Given the description of an element on the screen output the (x, y) to click on. 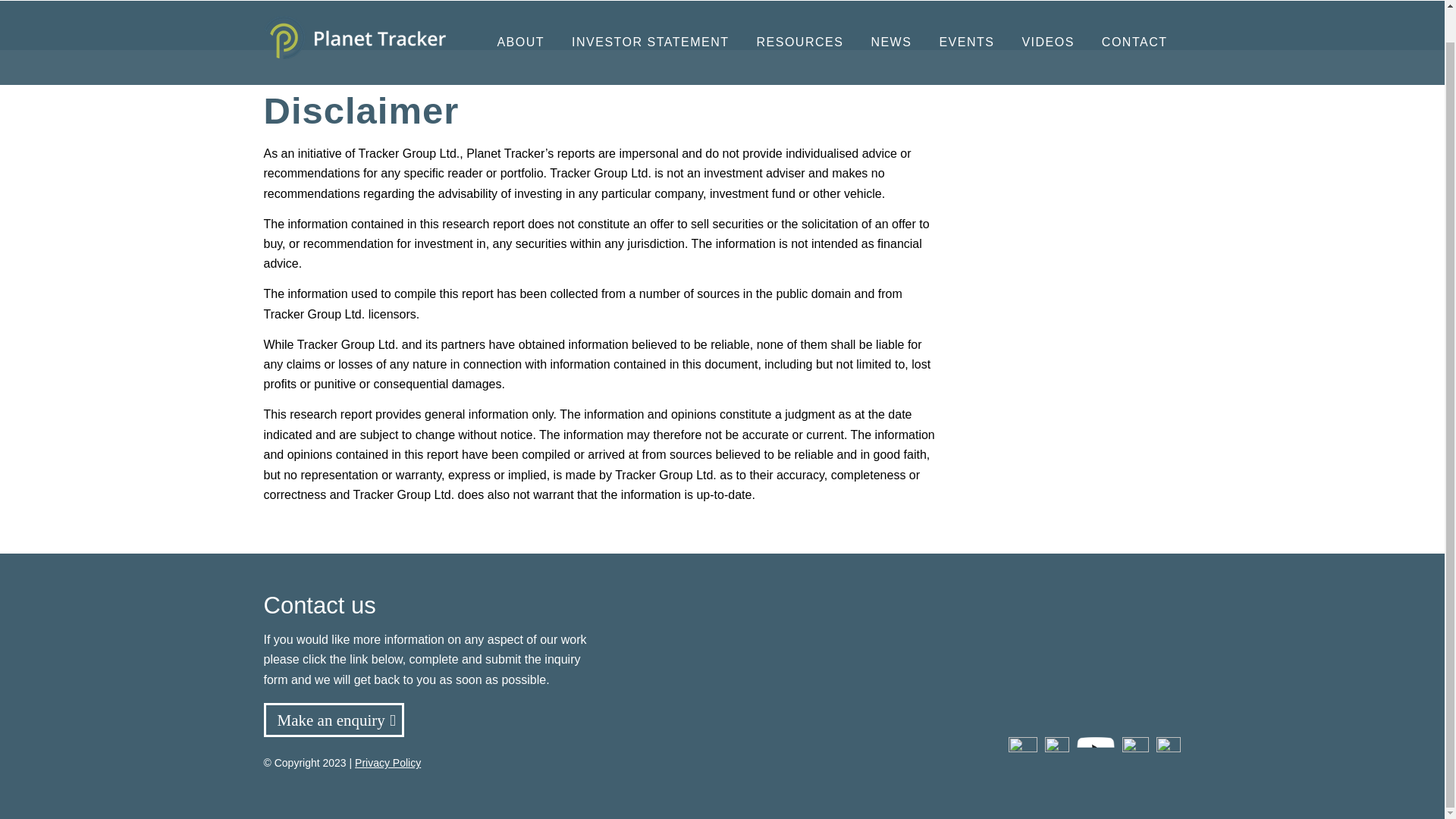
NEWS (890, 25)
Make an enquiry (333, 719)
EVENTS (965, 25)
VIDEOS (1047, 25)
Planet Tracker logo (354, 25)
Privacy Policy (387, 762)
Planet Tracker logo (354, 20)
INVESTOR STATEMENT (649, 25)
CONTACT (1133, 25)
ABOUT (520, 25)
RESOURCES (799, 25)
